Given the description of an element on the screen output the (x, y) to click on. 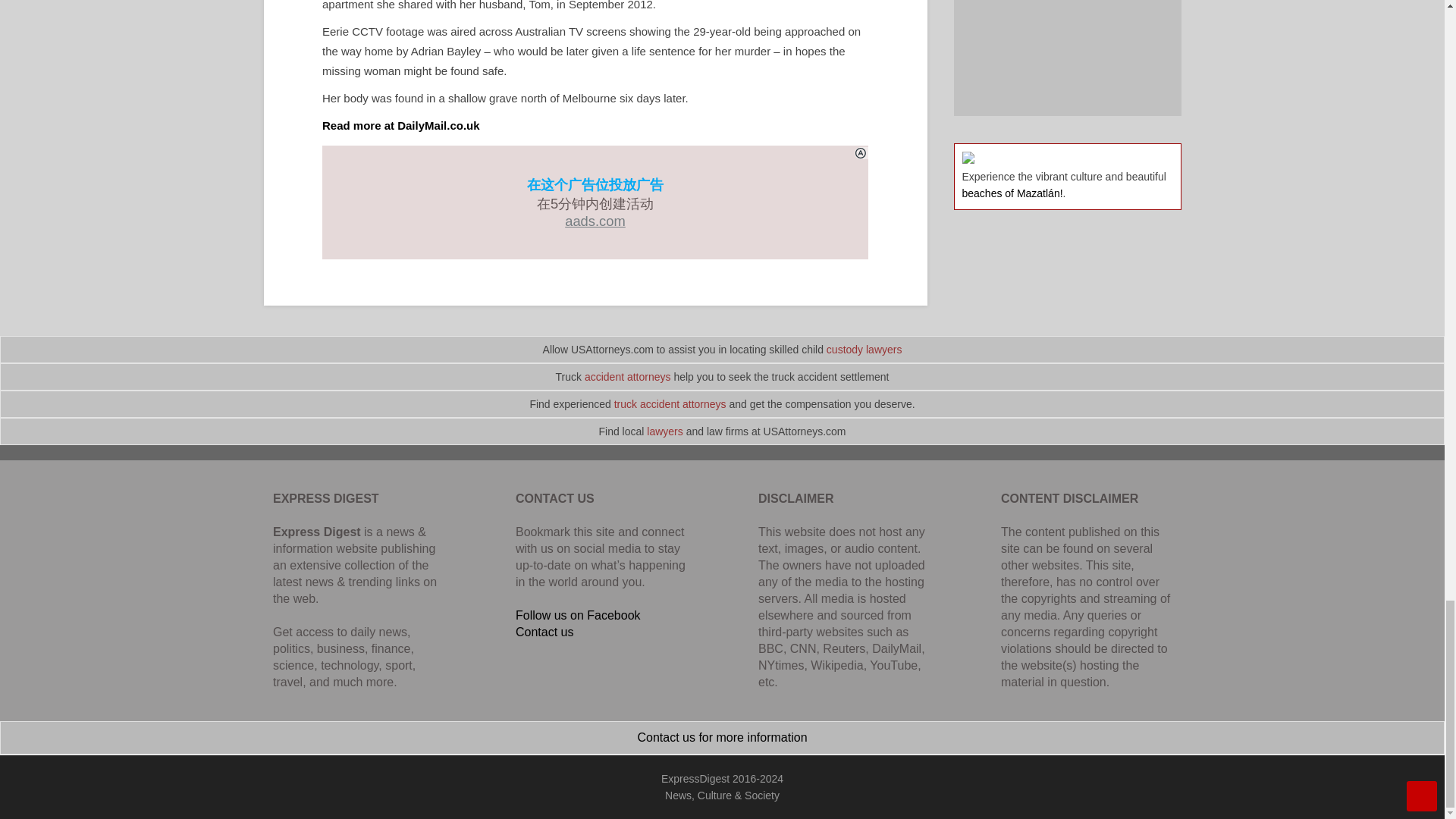
custody lawyers (864, 349)
lawyers (664, 431)
truck accident attorneys (670, 404)
accident attorneys (628, 377)
Read more at DailyMail.co.uk (400, 124)
